Given the description of an element on the screen output the (x, y) to click on. 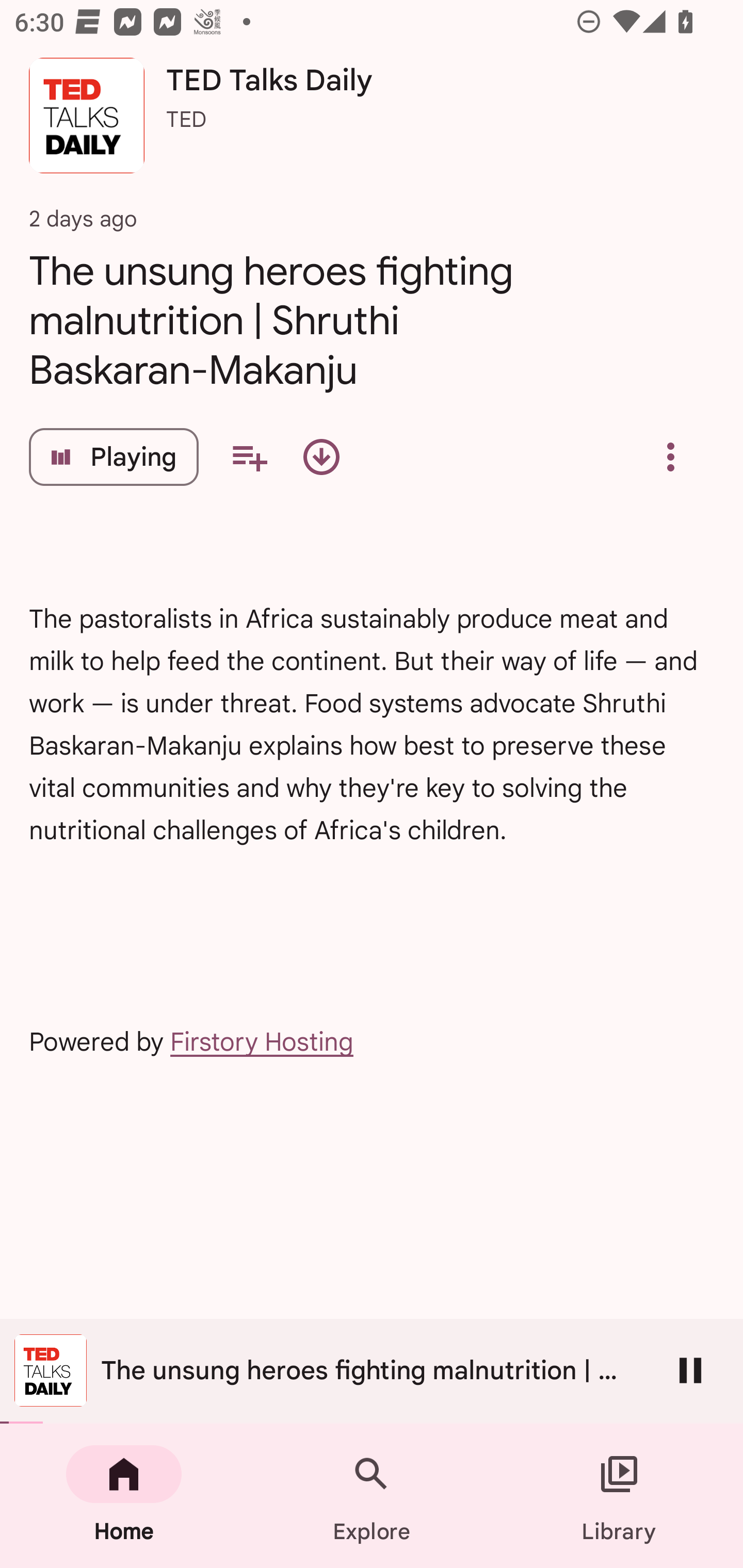
TED Talks Daily TED Talks Daily TED (371, 122)
Add to your queue (249, 456)
Download episode (321, 456)
Overflow menu (670, 456)
Pause (690, 1370)
Explore (371, 1495)
Library (619, 1495)
